Given the description of an element on the screen output the (x, y) to click on. 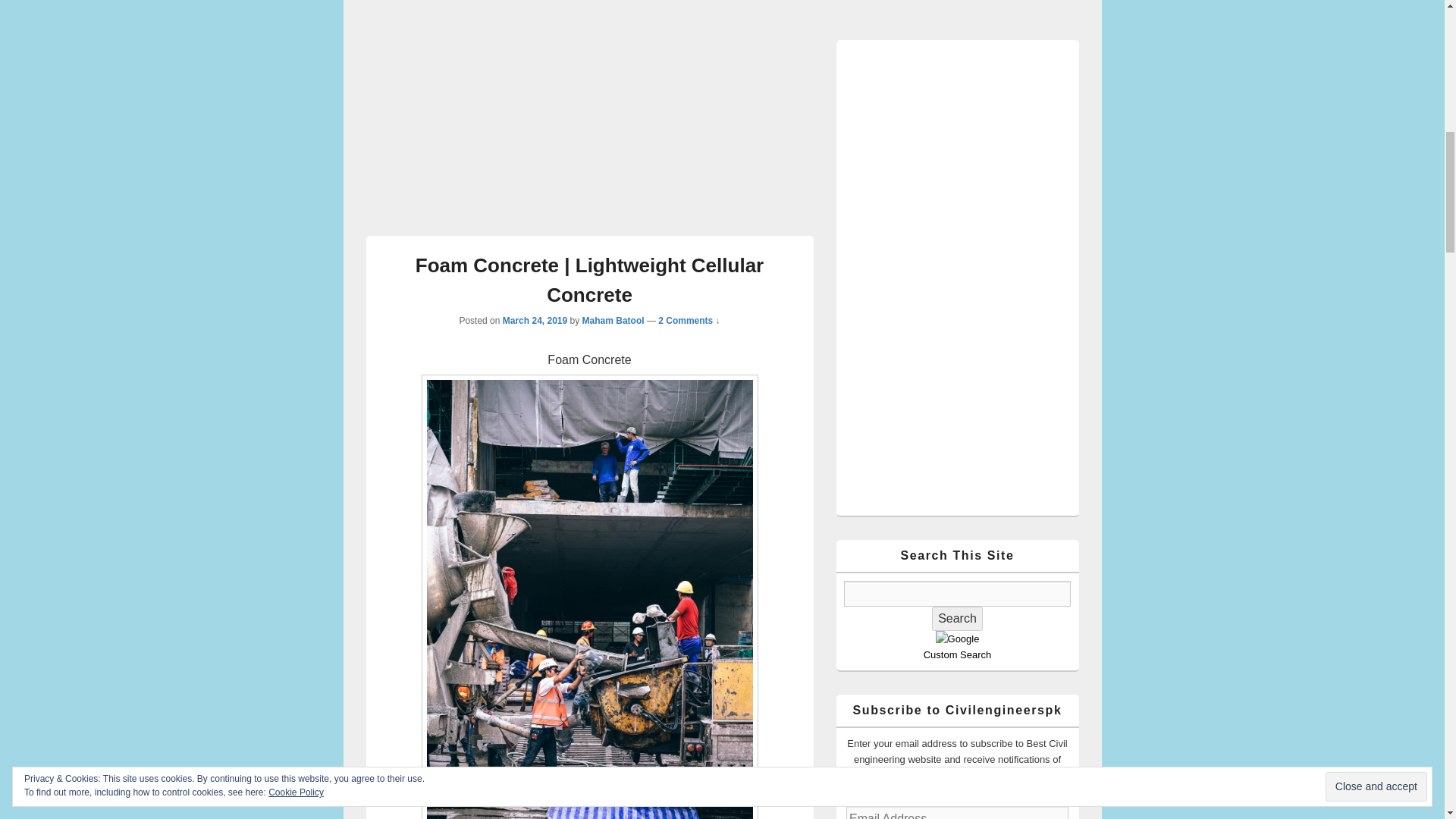
11:50 (534, 320)
Advertisement (721, 8)
Advertisement (588, 135)
View all posts by Maham Batool (613, 320)
Search (956, 618)
